Given the description of an element on the screen output the (x, y) to click on. 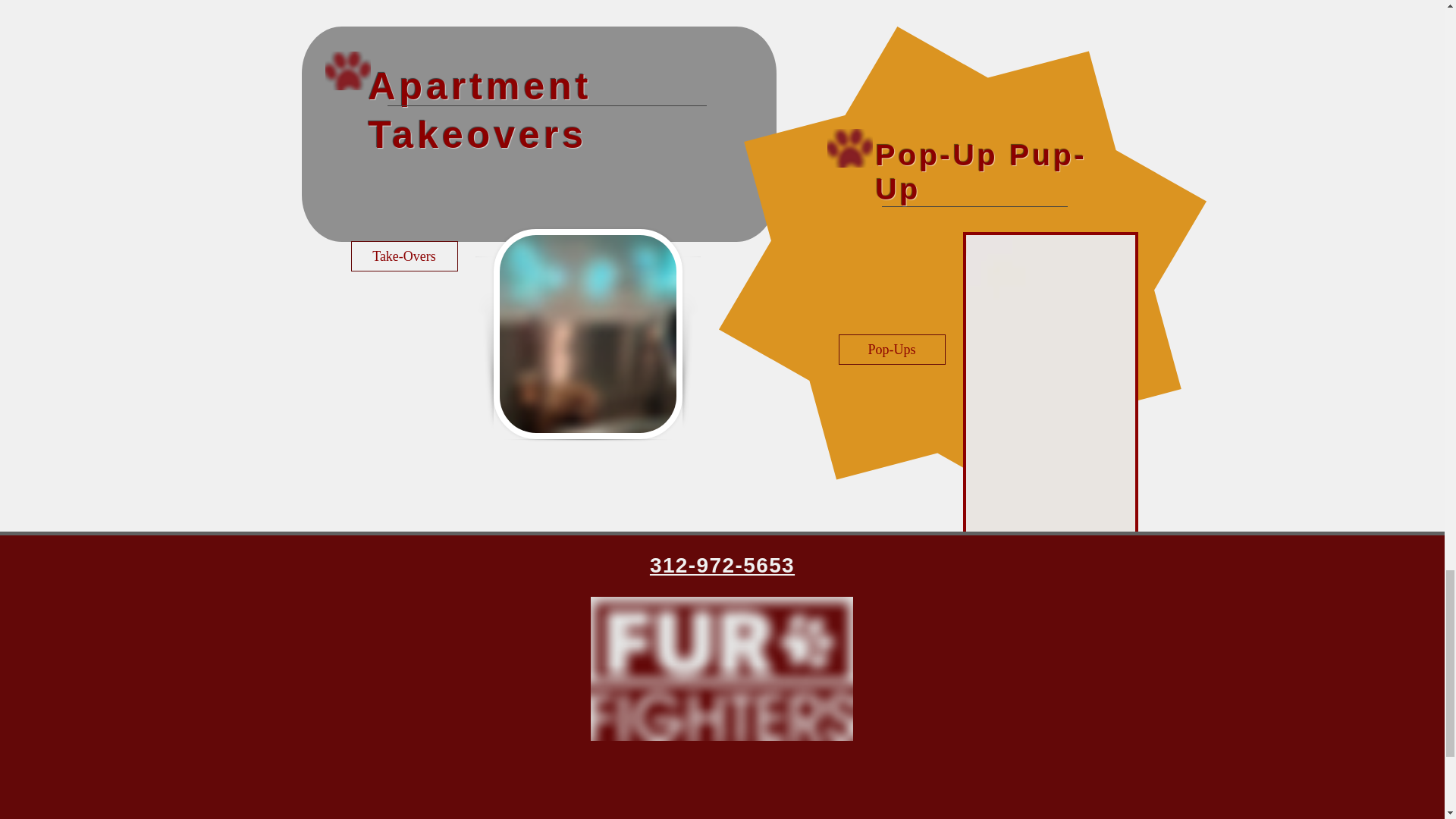
Take-Overs (403, 255)
Pop-Ups (891, 349)
312-972-5653 (721, 565)
